Given the description of an element on the screen output the (x, y) to click on. 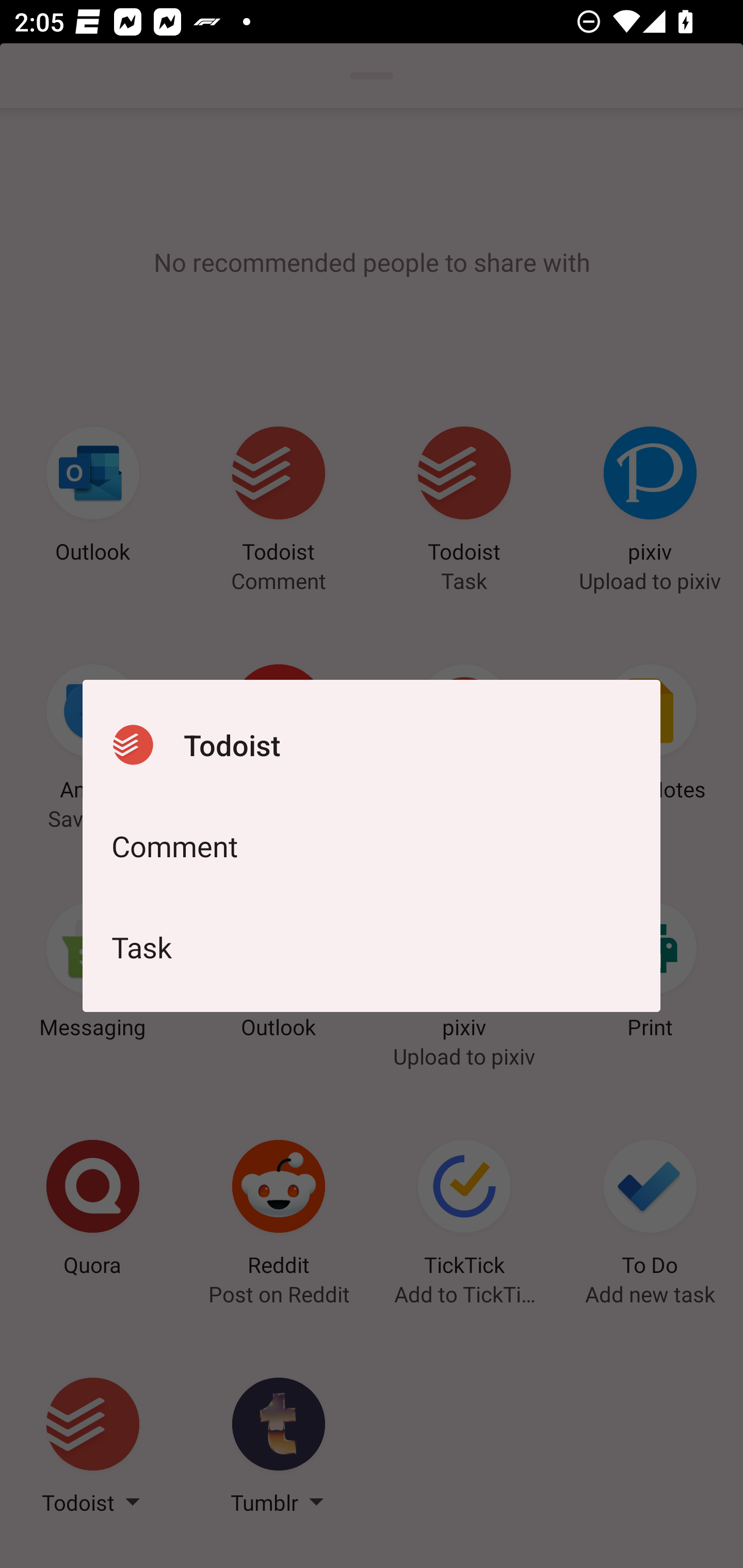
Comment (371, 845)
Task (371, 946)
